Given the description of an element on the screen output the (x, y) to click on. 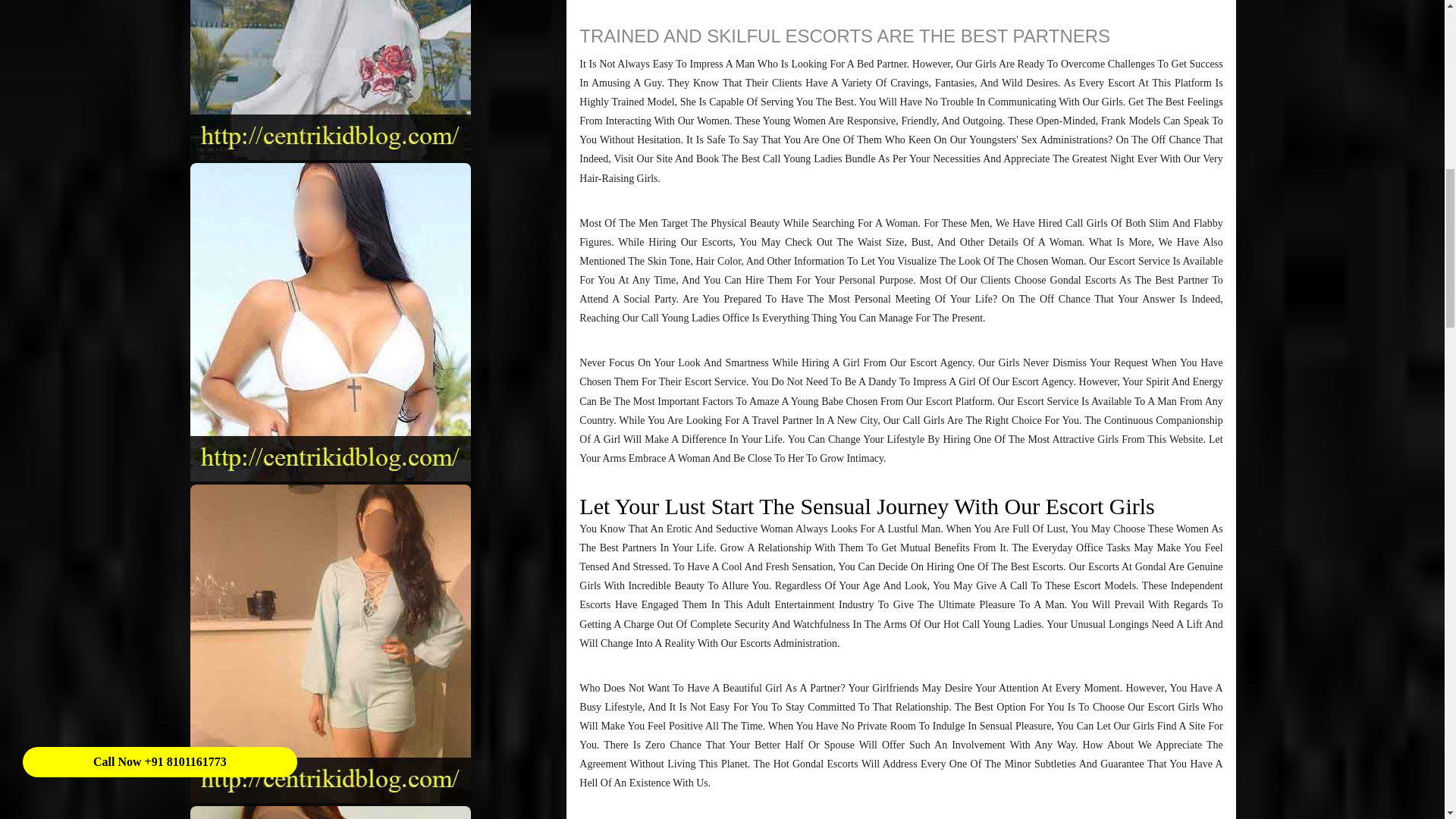
Top Super Model Escorts gondal (330, 812)
Beautiful hot female escorts gondal (330, 79)
